Given the description of an element on the screen output the (x, y) to click on. 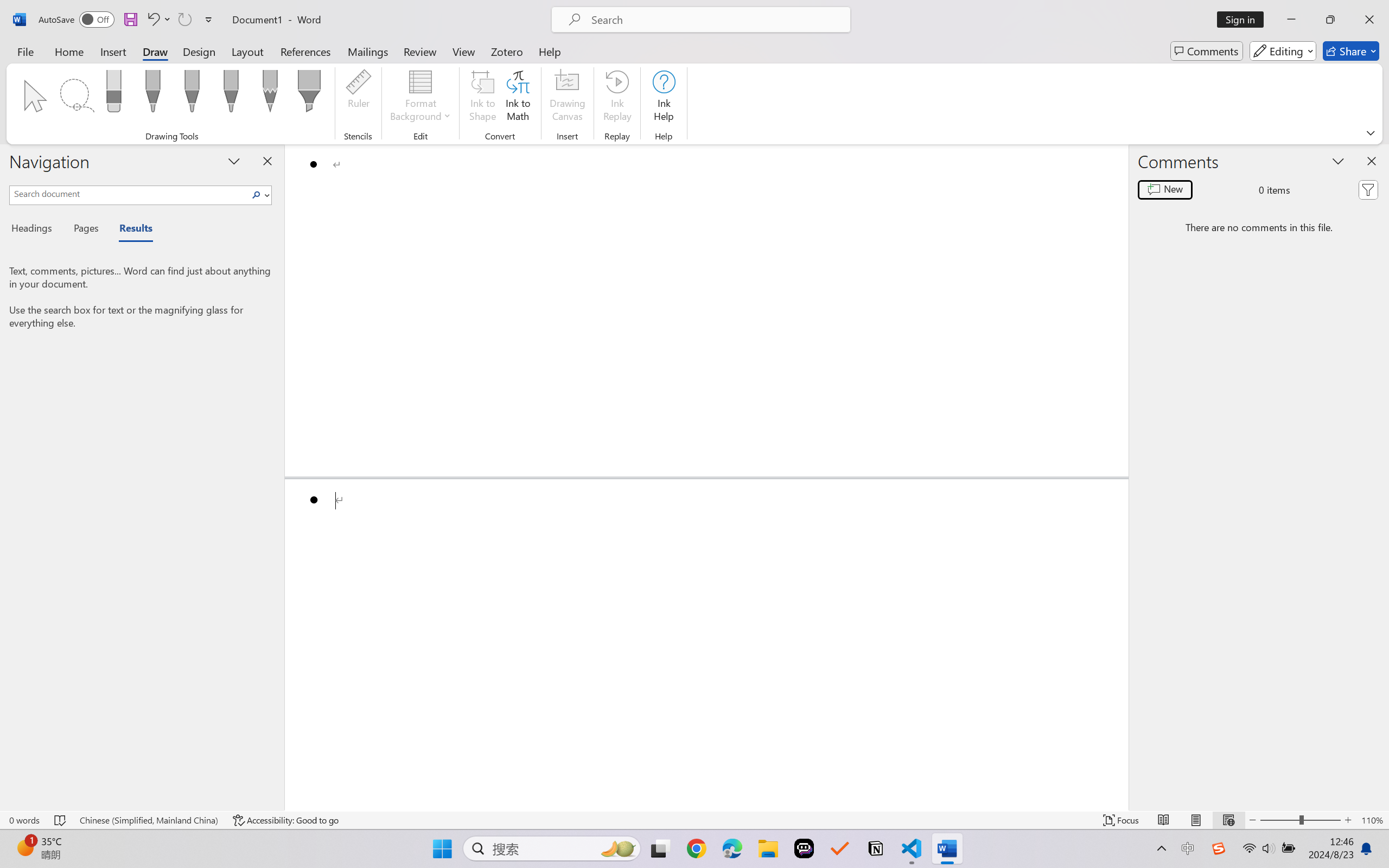
Ruler (358, 97)
Format Background (420, 97)
Ink to Shape (483, 97)
Pen: Black, 0.5 mm (152, 94)
